Given the description of an element on the screen output the (x, y) to click on. 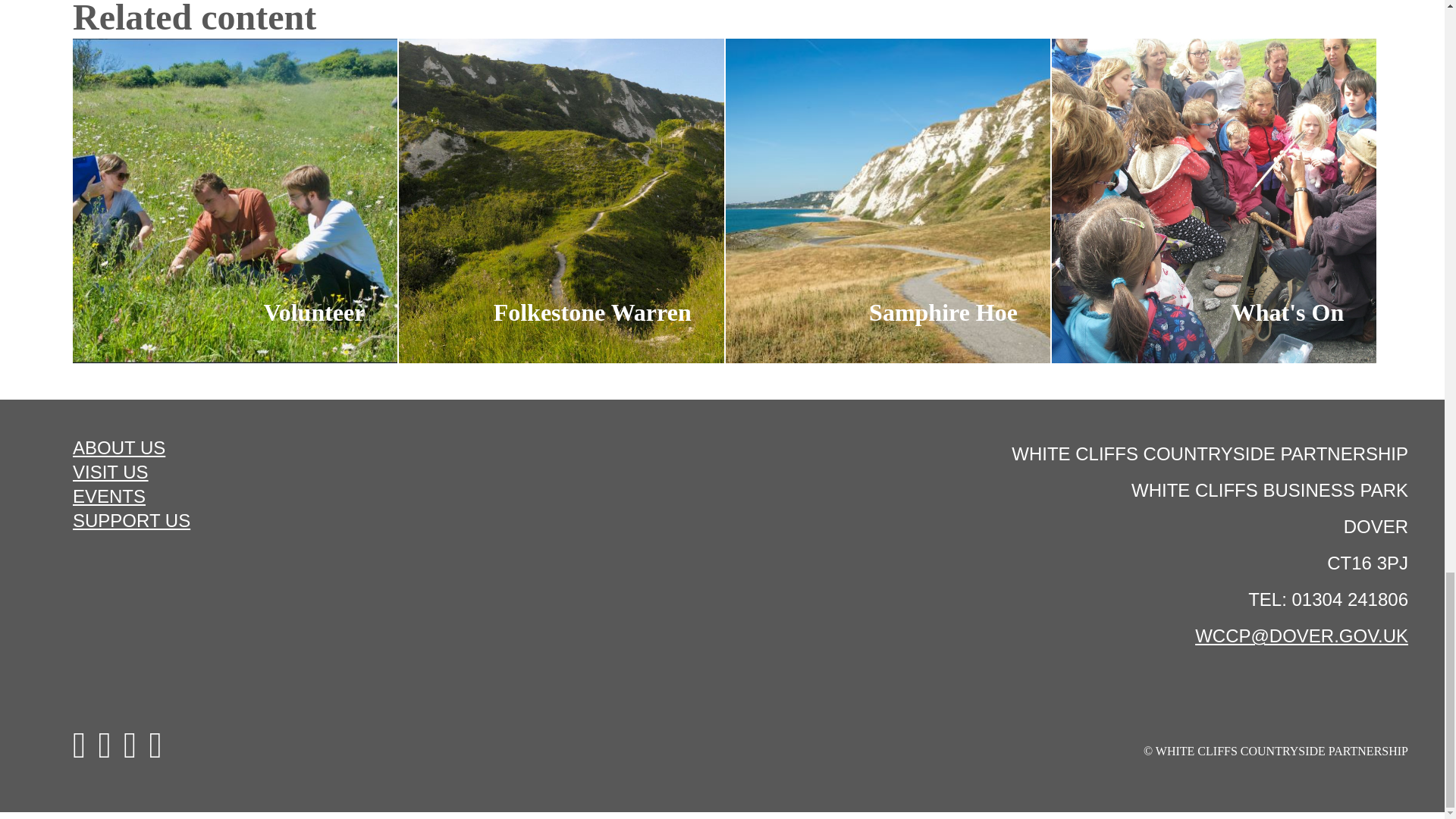
Volunteer (234, 200)
What's On (1213, 200)
Samphire Hoe (887, 200)
Folkestone Warren (560, 200)
